Given the description of an element on the screen output the (x, y) to click on. 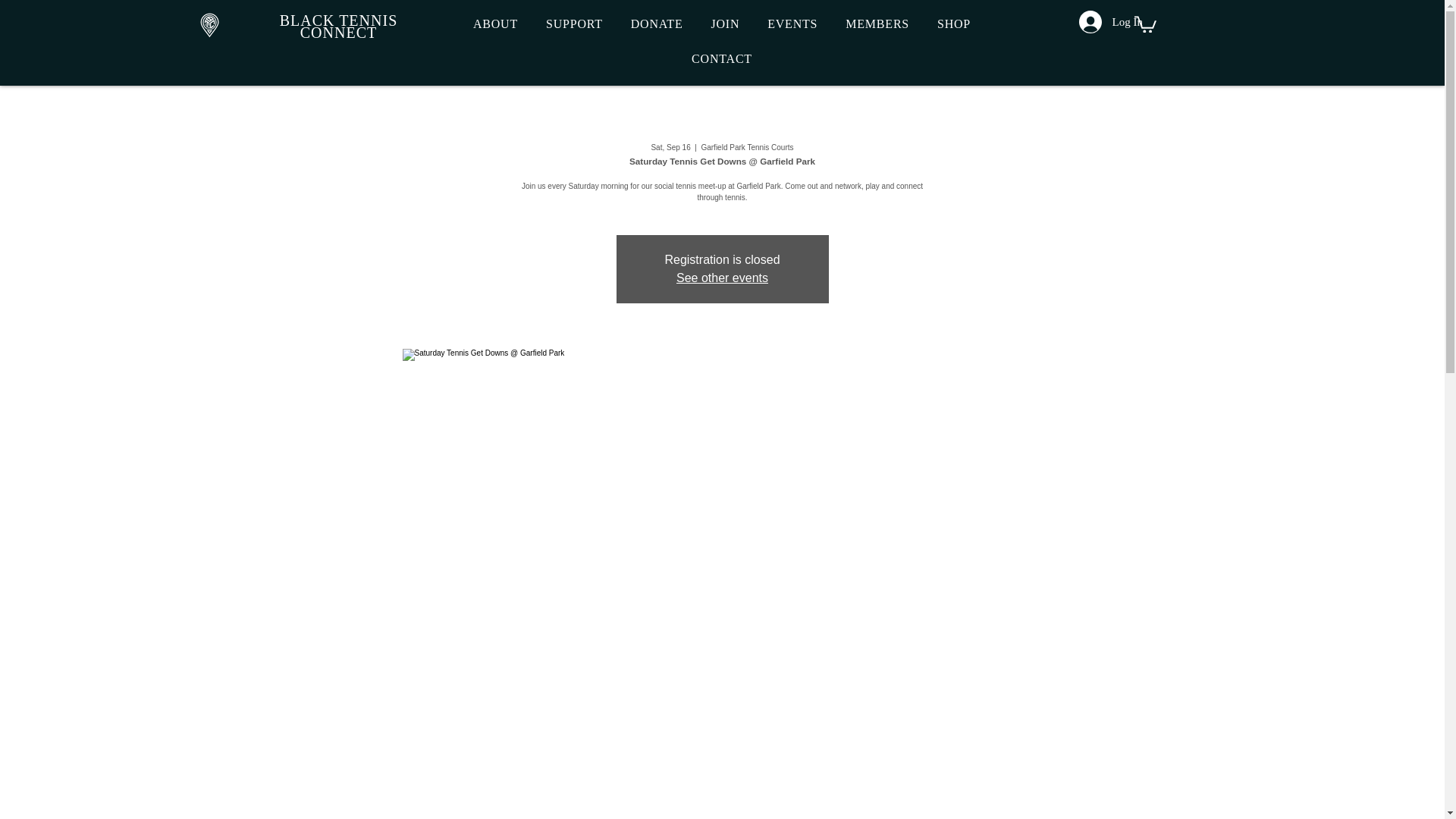
JOIN (725, 23)
SHOP (953, 23)
EVENTS (792, 23)
BLACK TENNIS CONNECT (338, 26)
CONTACT (722, 59)
MEMBERS (877, 23)
ABOUT (496, 23)
See other events (722, 277)
DONATE (657, 23)
Log In (1100, 21)
